Given the description of an element on the screen output the (x, y) to click on. 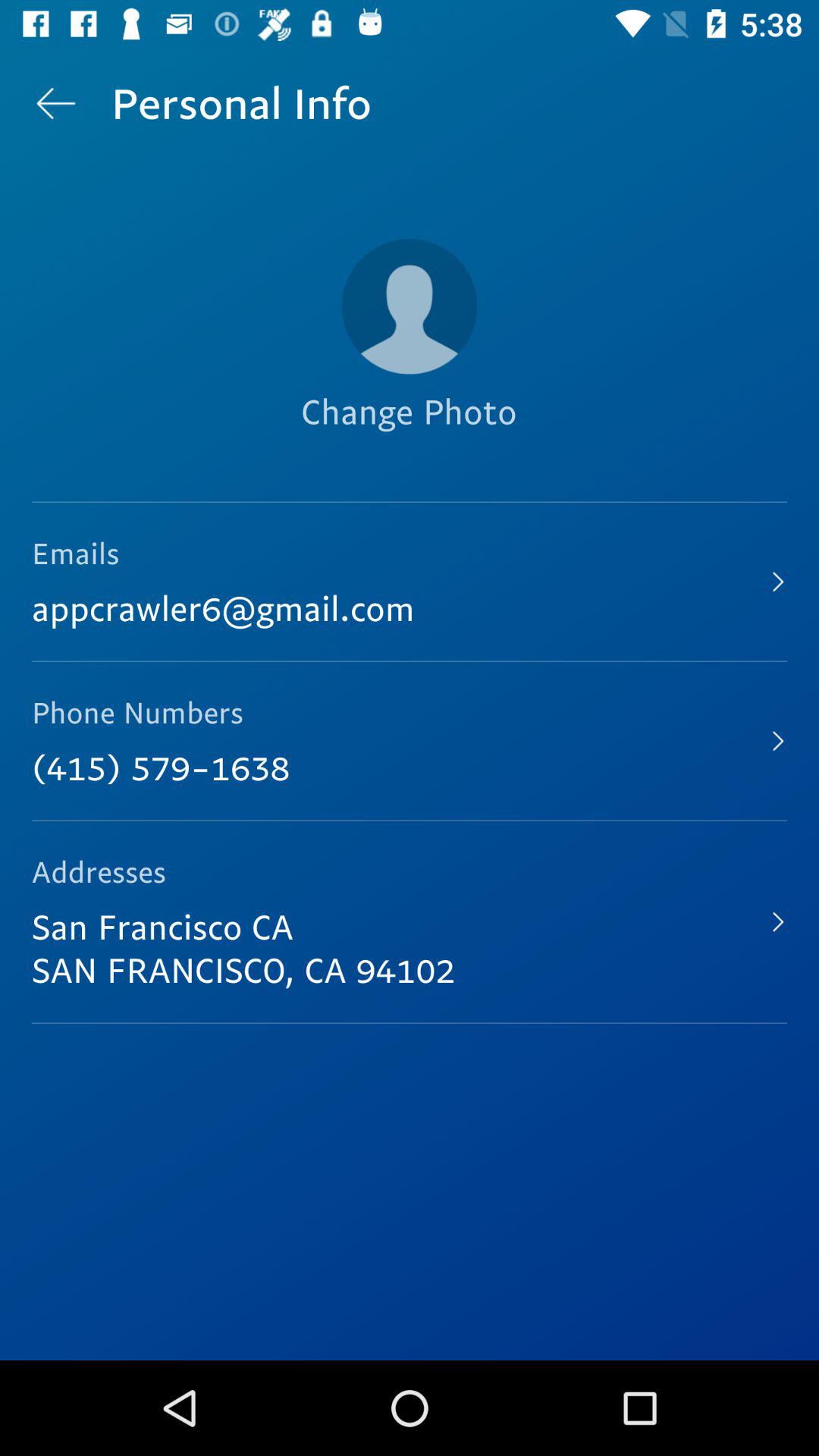
turn off icon at the top left corner (55, 103)
